Given the description of an element on the screen output the (x, y) to click on. 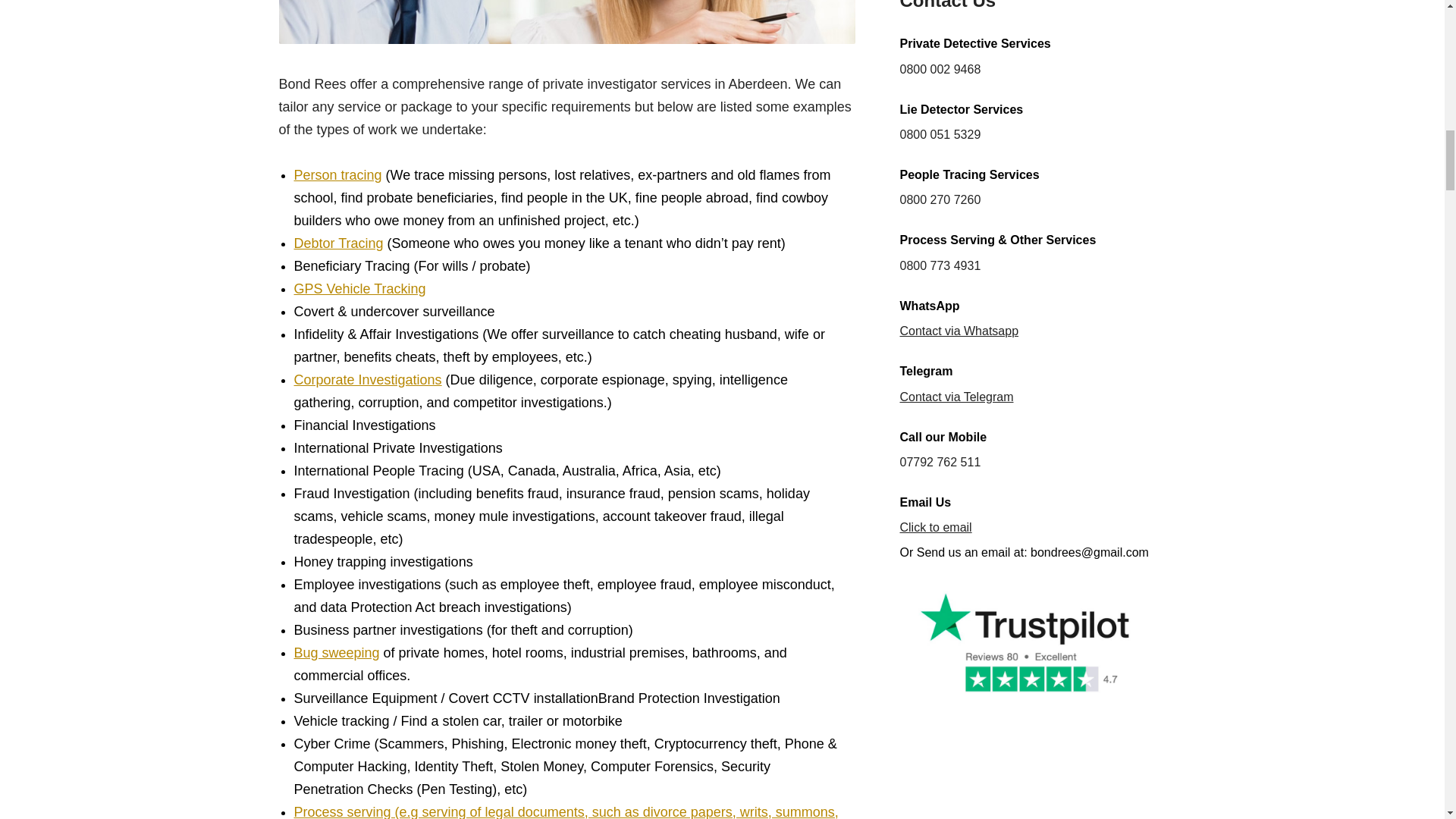
Debtor Tracing (339, 242)
Bug sweeping (337, 652)
GPS Vehicle Tracking (360, 288)
Person tracing (337, 174)
Corporate Investigations (368, 379)
